Given the description of an element on the screen output the (x, y) to click on. 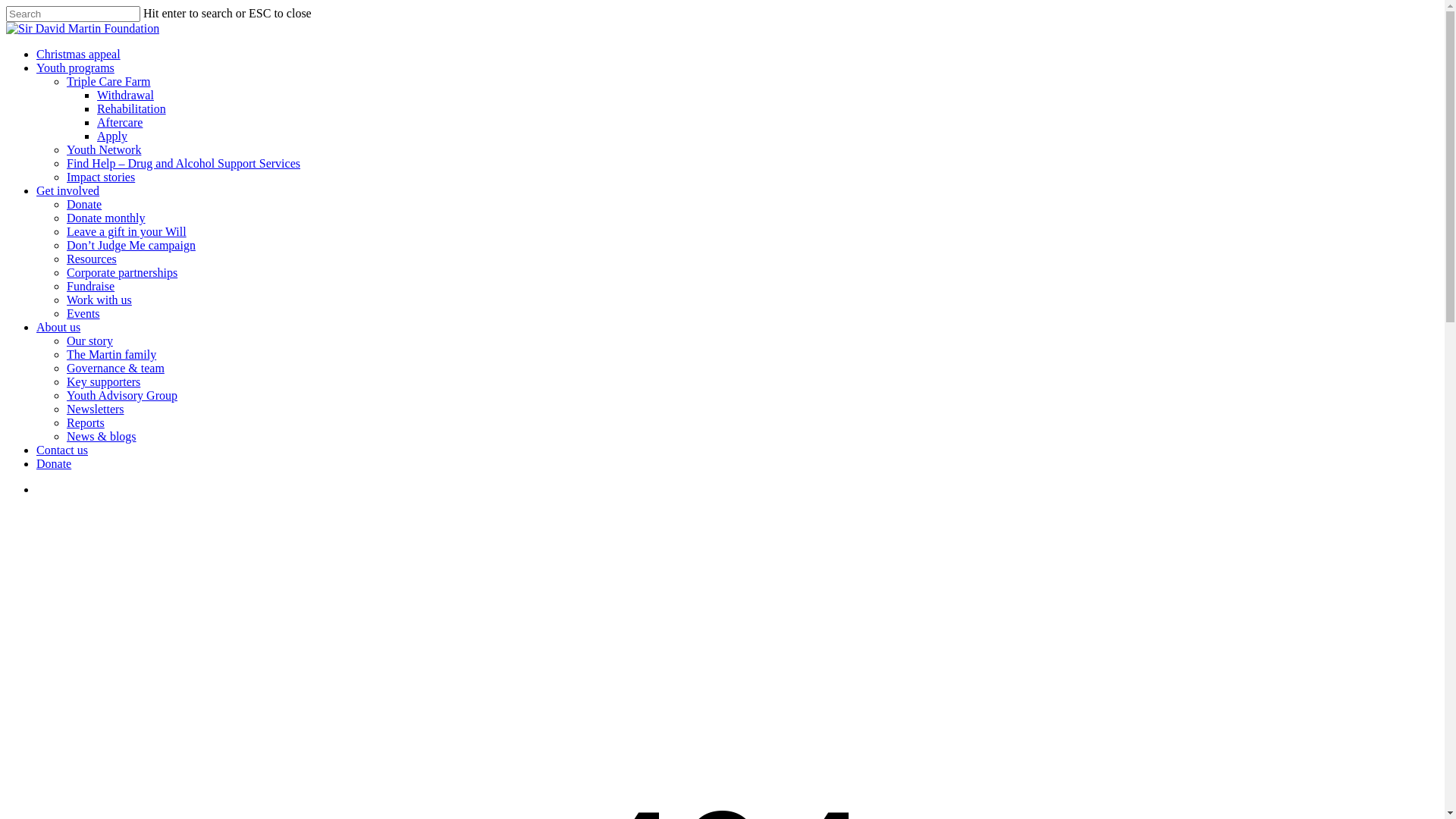
News & blogs Element type: text (101, 435)
Youth programs Element type: text (75, 67)
Youth Network Element type: text (103, 149)
Contact us Element type: text (61, 449)
Key supporters Element type: text (103, 381)
Events Element type: text (83, 313)
About us Element type: text (58, 326)
Skip to main content Element type: text (5, 5)
Fundraise Element type: text (90, 285)
Donate monthly Element type: text (105, 217)
Corporate partnerships Element type: text (121, 272)
Donate Element type: text (83, 203)
Apply Element type: text (112, 135)
Donate Element type: text (53, 463)
Withdrawal Element type: text (125, 94)
The Martin family Element type: text (111, 354)
Work with us Element type: text (98, 299)
Youth Advisory Group Element type: text (121, 395)
Christmas appeal Element type: text (78, 53)
Newsletters Element type: text (95, 408)
Get involved Element type: text (67, 190)
Reports Element type: text (85, 422)
Resources Element type: text (91, 258)
Rehabilitation Element type: text (131, 108)
Impact stories Element type: text (100, 176)
Leave a gift in your Will Element type: text (126, 231)
Governance & team Element type: text (115, 367)
Triple Care Farm Element type: text (108, 81)
Aftercare Element type: text (119, 122)
Our story Element type: text (89, 340)
